Given the description of an element on the screen output the (x, y) to click on. 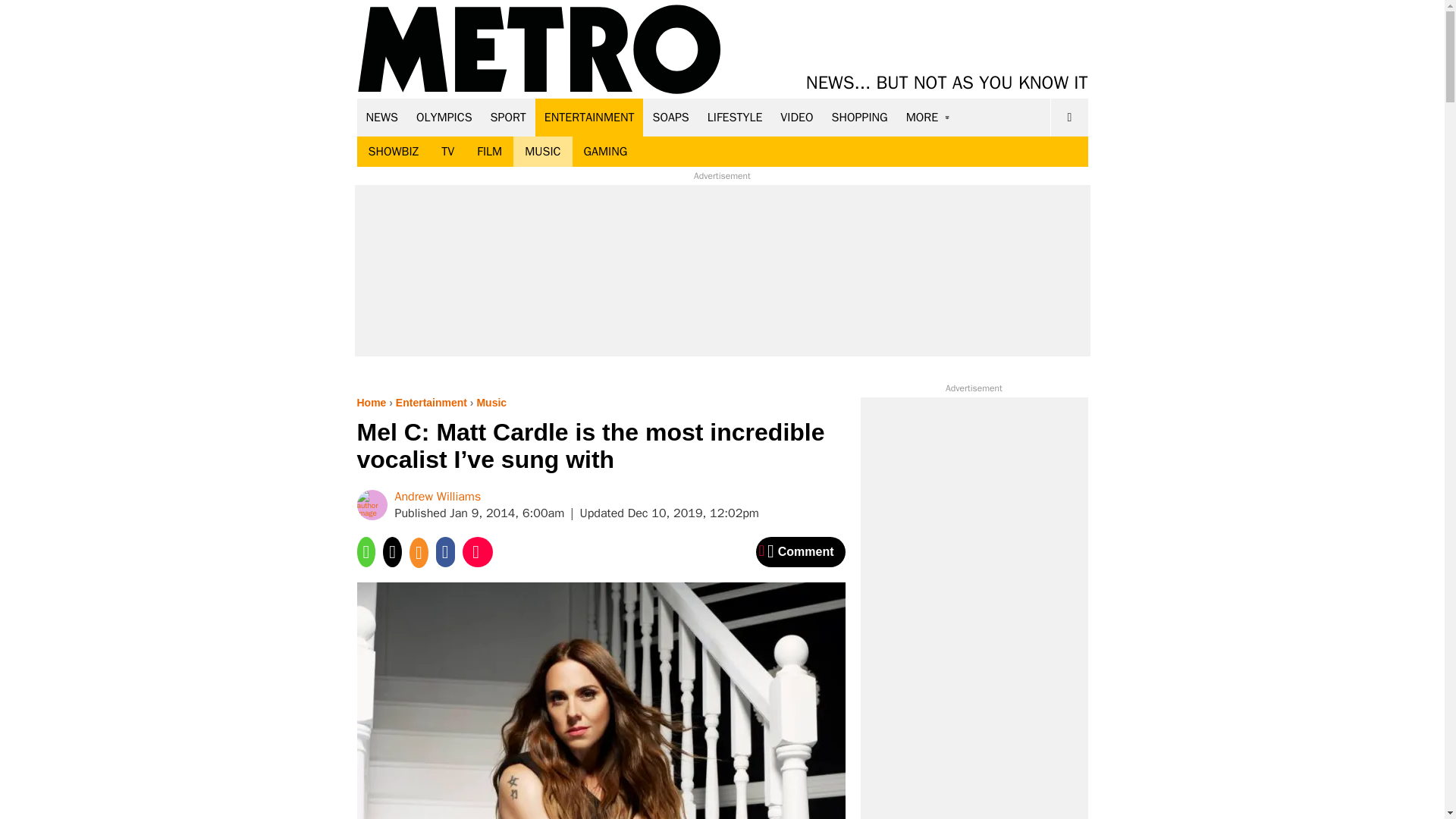
TV (447, 151)
Metro (539, 50)
SPORT (508, 117)
SOAPS (670, 117)
GAMING (605, 151)
OLYMPICS (444, 117)
FILM (489, 151)
MUSIC (542, 151)
SHOWBIZ (392, 151)
ENTERTAINMENT (589, 117)
NEWS (381, 117)
LIFESTYLE (734, 117)
